Given the description of an element on the screen output the (x, y) to click on. 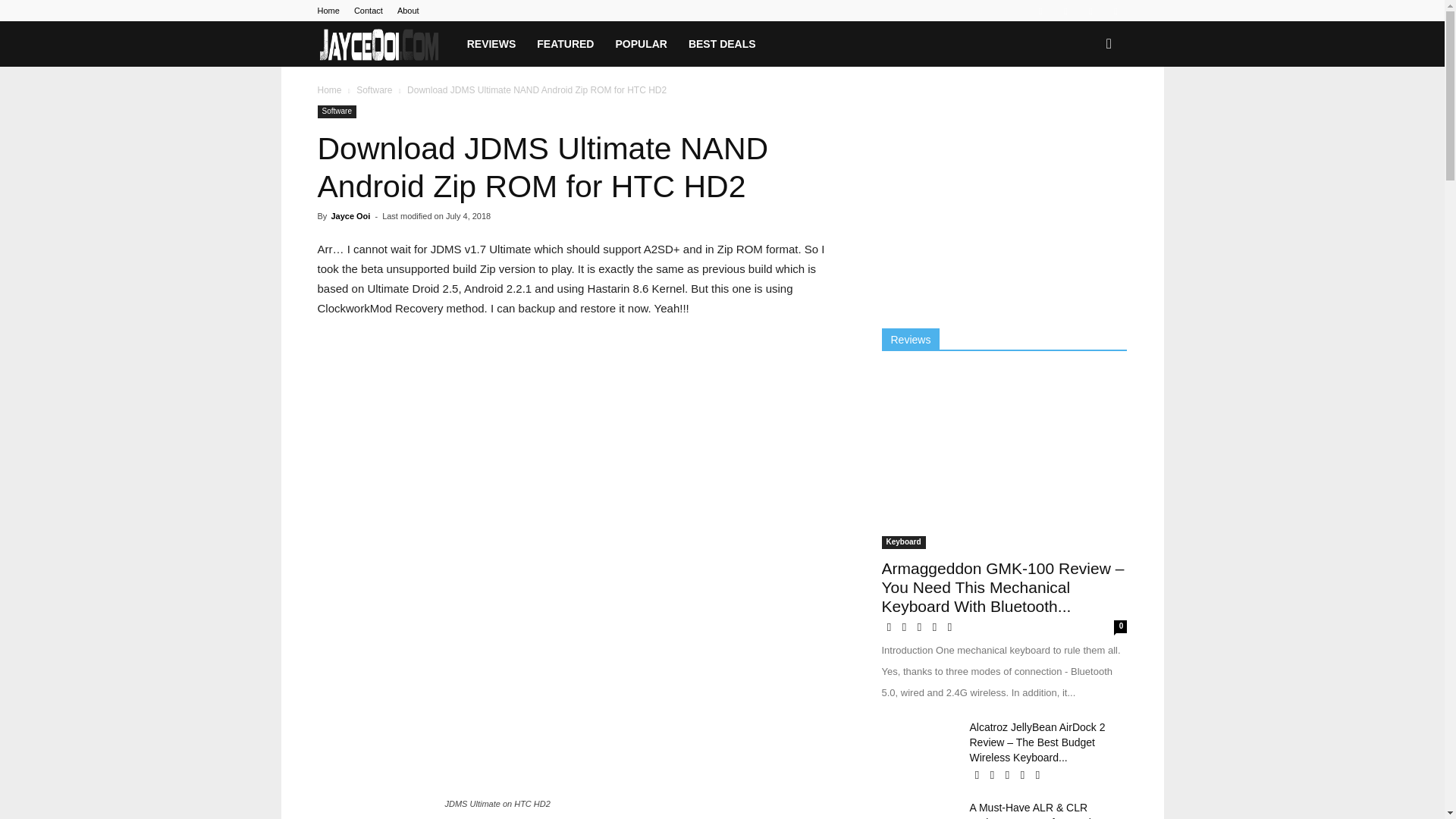
Pinterest (1065, 10)
Twitter (1090, 10)
JayceOoi.com (379, 44)
Facebook (1040, 10)
Youtube (1114, 10)
